Given the description of an element on the screen output the (x, y) to click on. 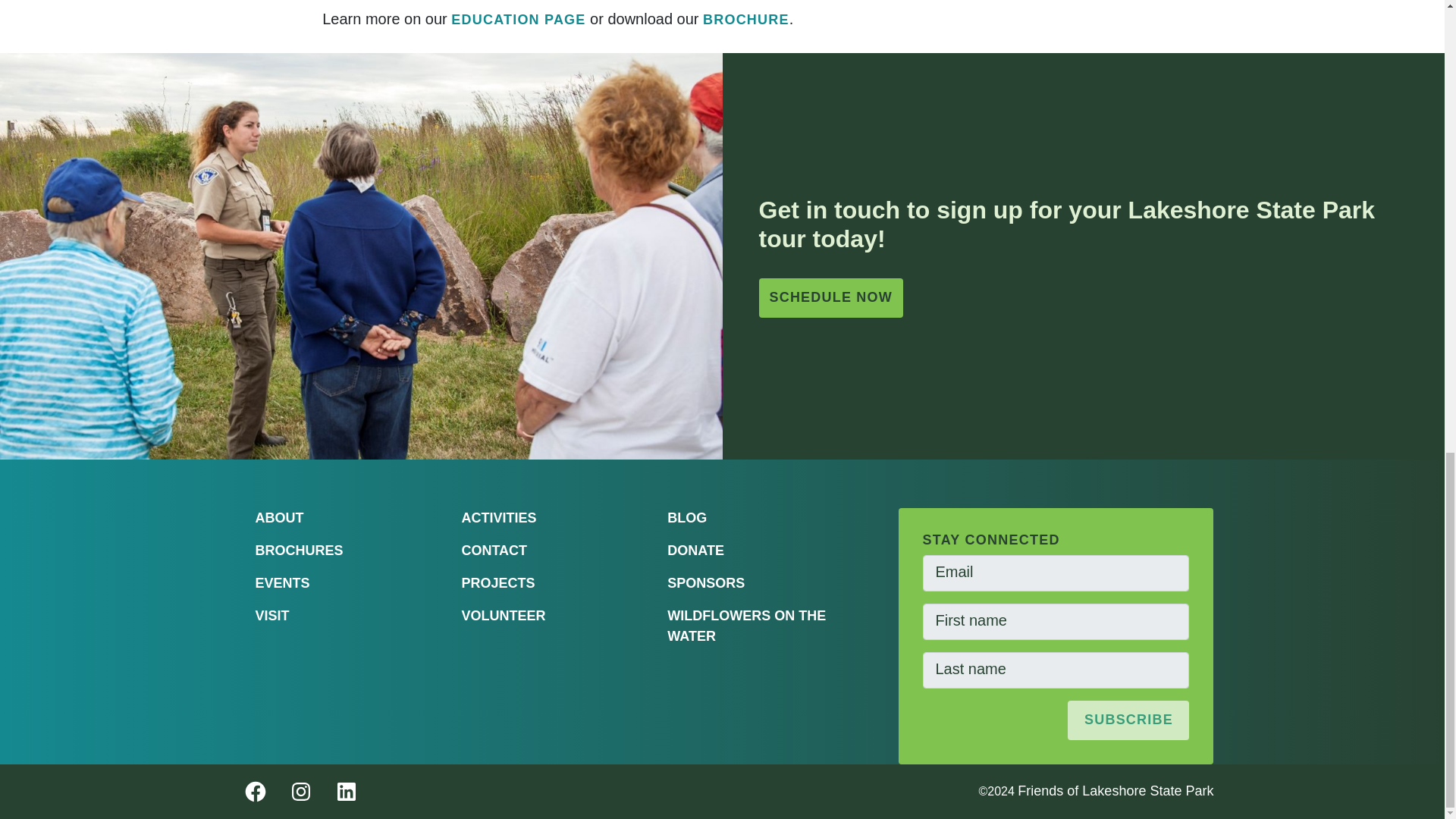
ABOUT (278, 517)
BROCHURE (746, 20)
DONATE (694, 549)
LinkedIn (339, 791)
SCHEDULE NOW (830, 297)
BLOG (686, 517)
Subscribe (1128, 720)
SPONSORS (705, 582)
EVENTS (281, 582)
EDUCATION PAGE (518, 20)
CONTACT (494, 549)
ACTIVITIES (498, 517)
Follow us on Instagram (294, 791)
PROJECTS (497, 582)
VOLUNTEER (502, 615)
